Given the description of an element on the screen output the (x, y) to click on. 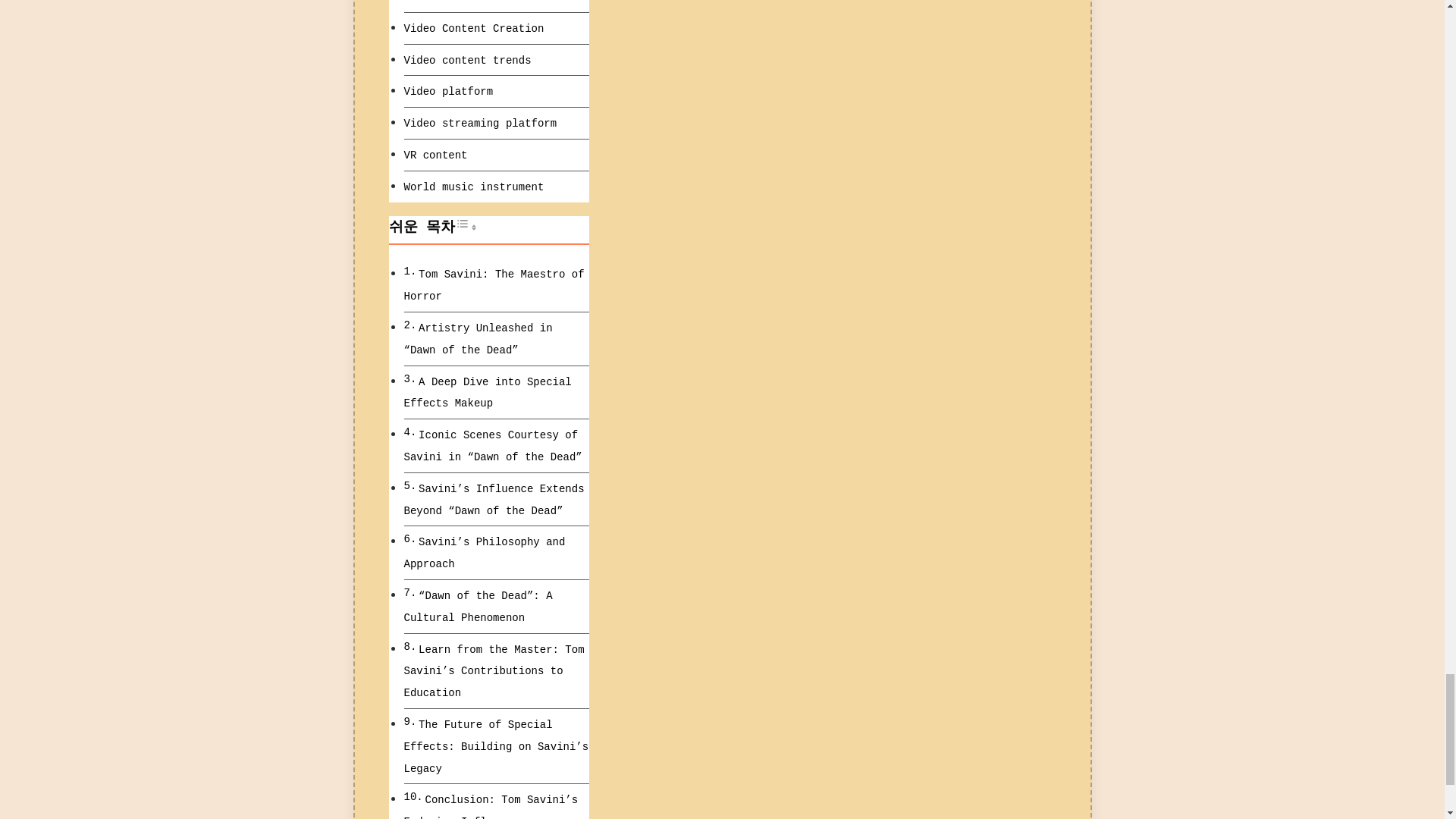
A Deep Dive into Special Effects Makeup (486, 392)
Tom Savini: The Maestro of Horror (493, 285)
